Given the description of an element on the screen output the (x, y) to click on. 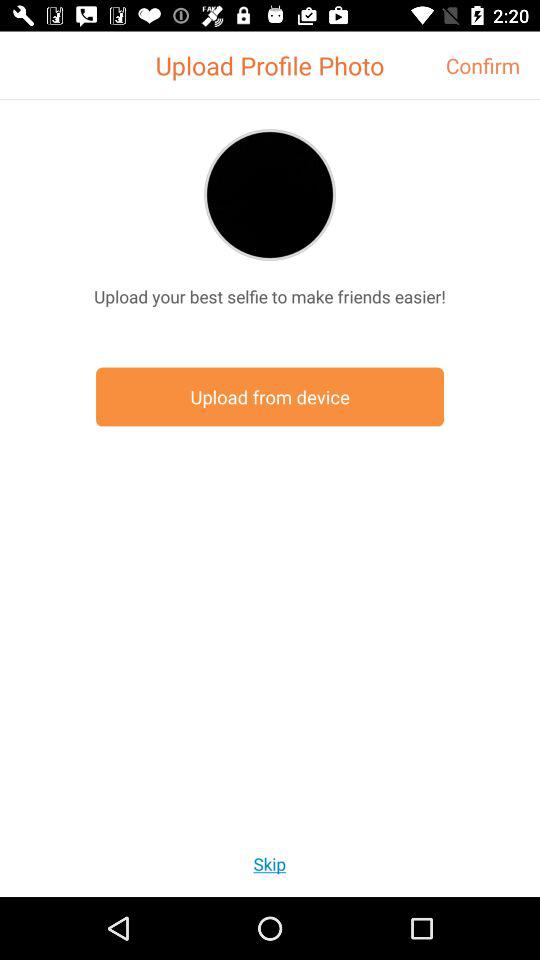
scroll to upload your best icon (269, 296)
